Given the description of an element on the screen output the (x, y) to click on. 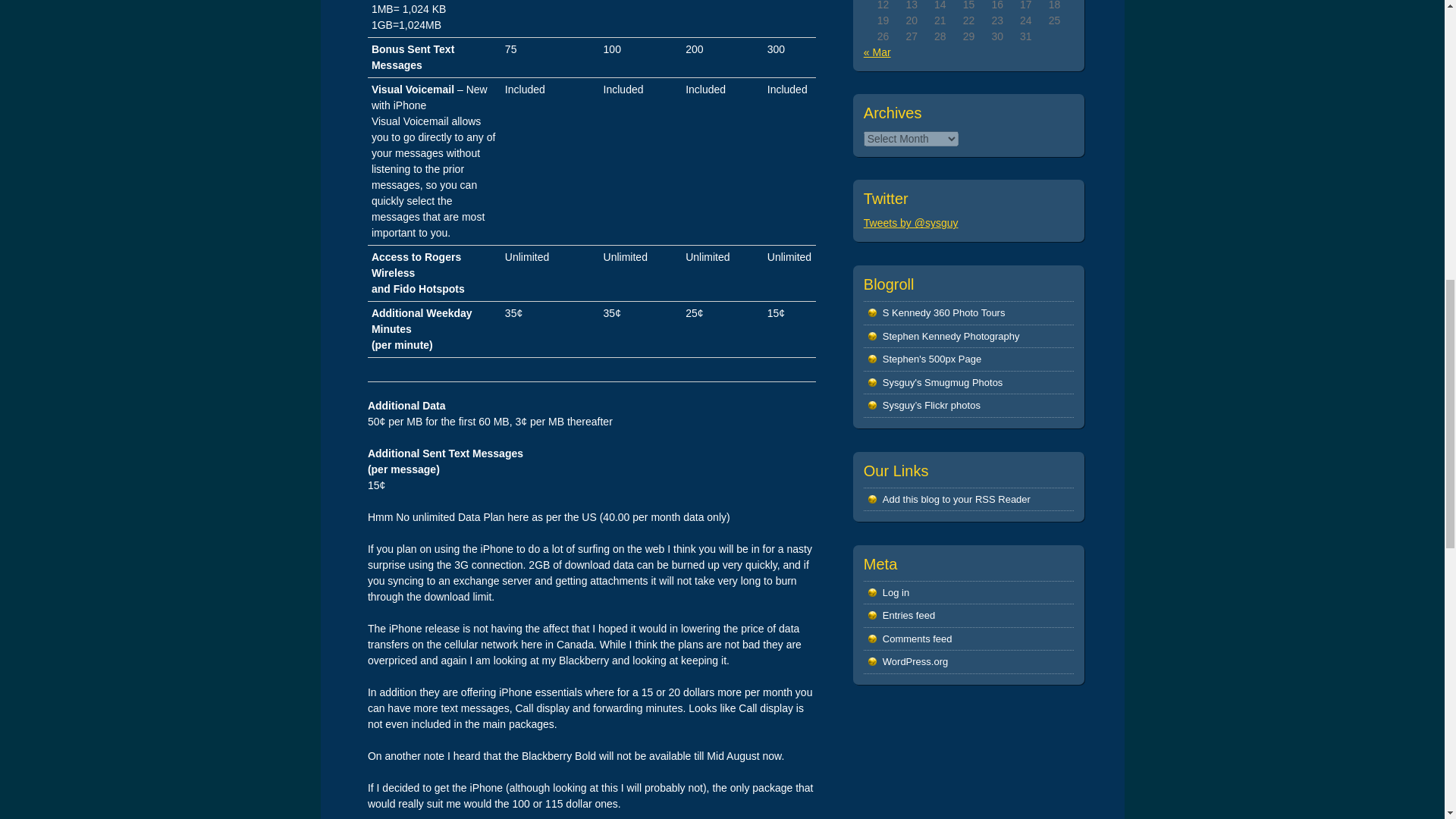
Trusted Photographer Google Business Photos  (944, 312)
